Given the description of an element on the screen output the (x, y) to click on. 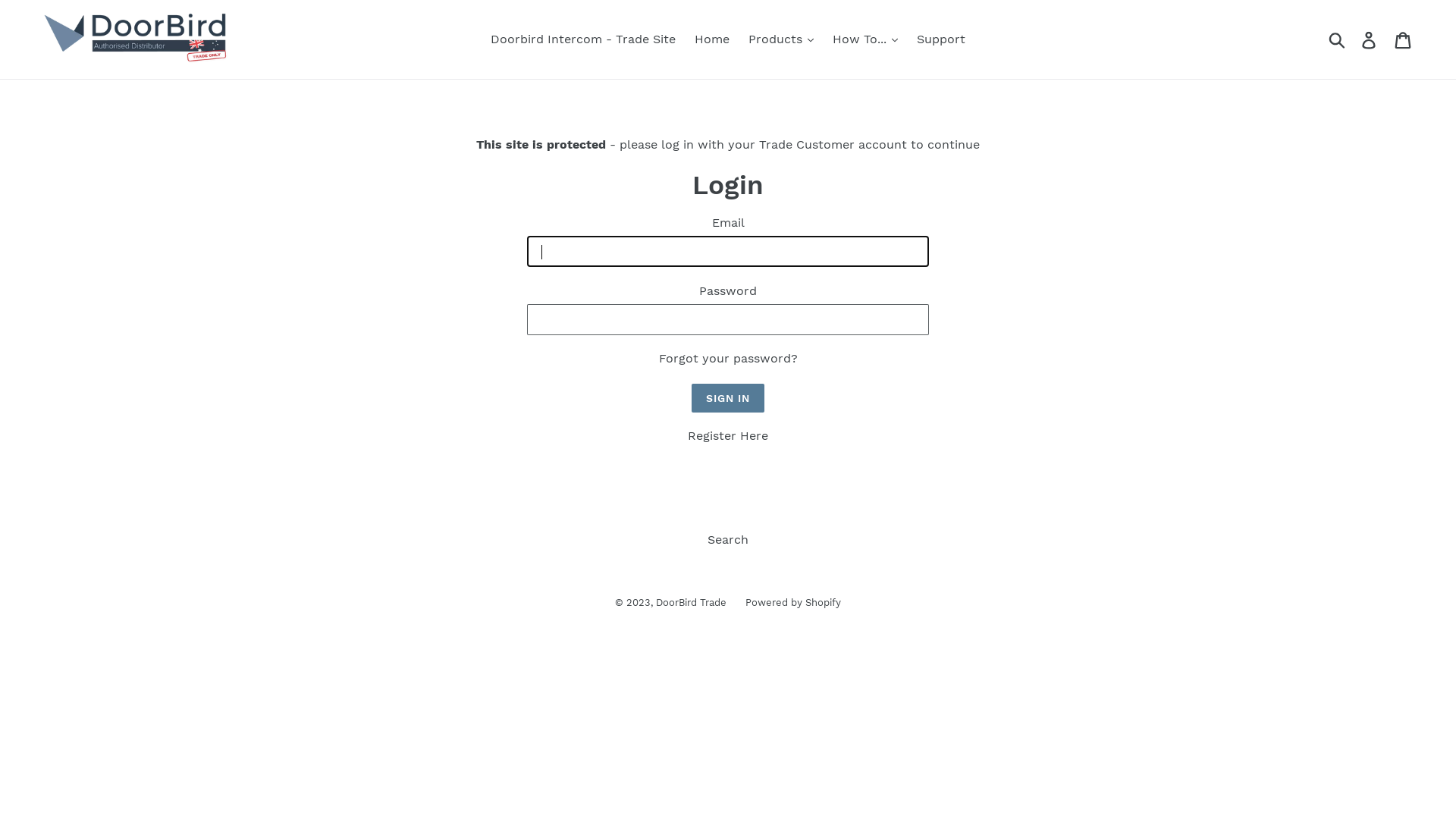
Submit Element type: text (1337, 39)
Cart Element type: text (1403, 39)
Home Element type: text (712, 39)
Sign In Element type: text (728, 398)
Search Element type: text (727, 540)
DoorBird Trade Element type: text (690, 602)
Log in Element type: text (1369, 39)
Doorbird Intercom - Trade Site Element type: text (583, 39)
Powered by Shopify Element type: text (792, 602)
Register Here Element type: text (727, 436)
Support Element type: text (940, 39)
Forgot your password? Element type: text (727, 358)
